Given the description of an element on the screen output the (x, y) to click on. 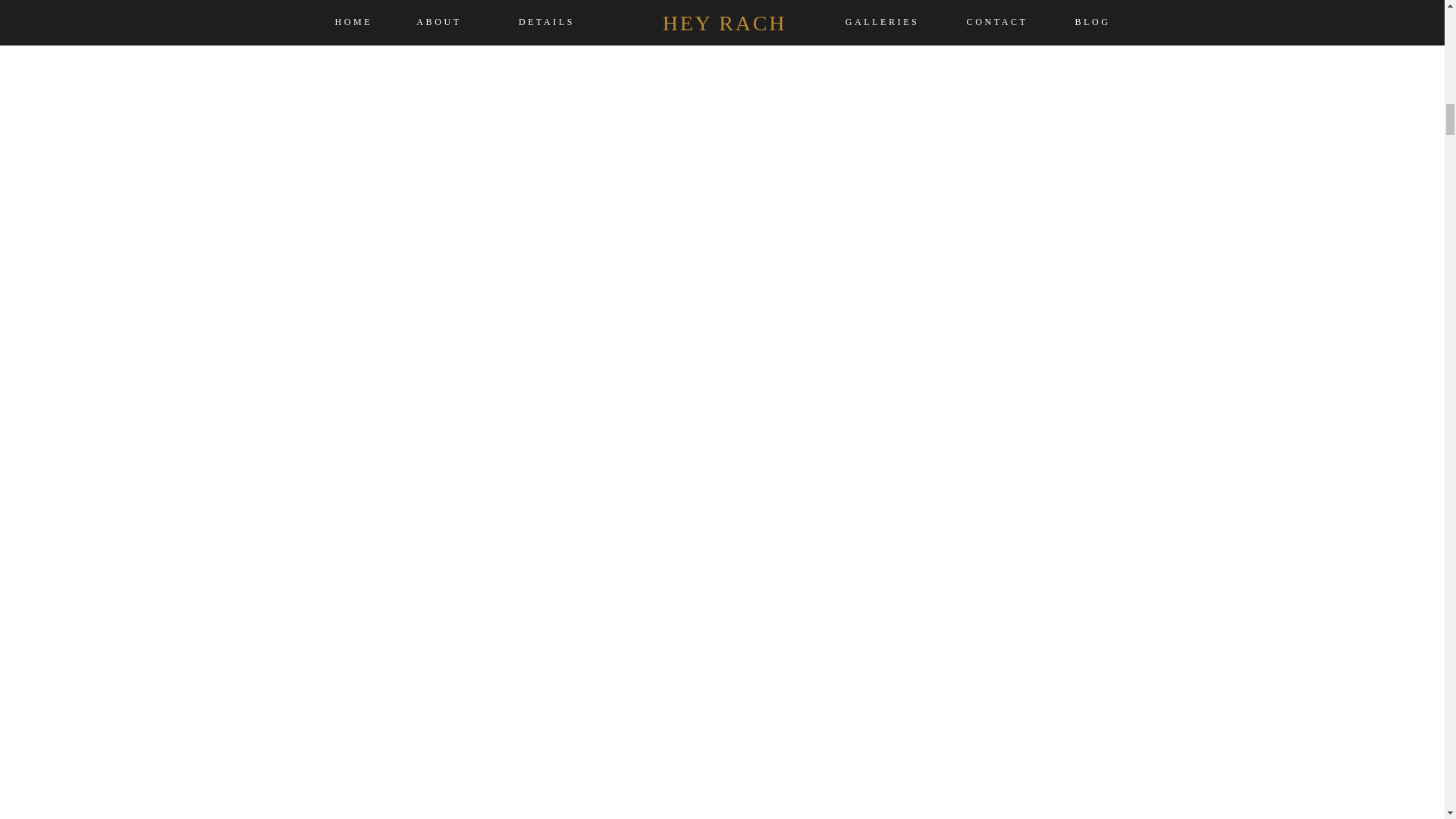
baylie-2-7 (721, 19)
